Given the description of an element on the screen output the (x, y) to click on. 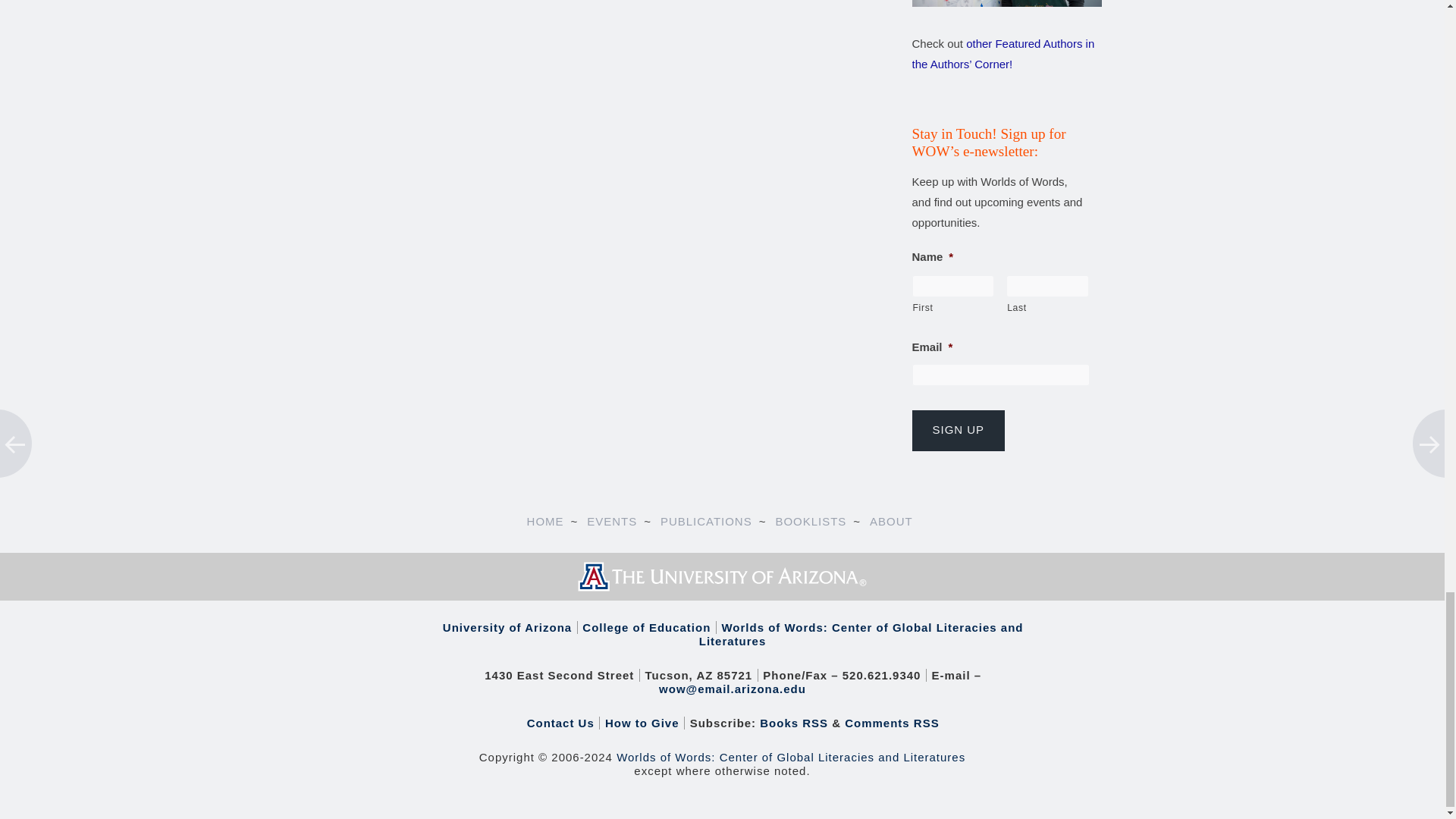
Sign Up (957, 430)
